Given the description of an element on the screen output the (x, y) to click on. 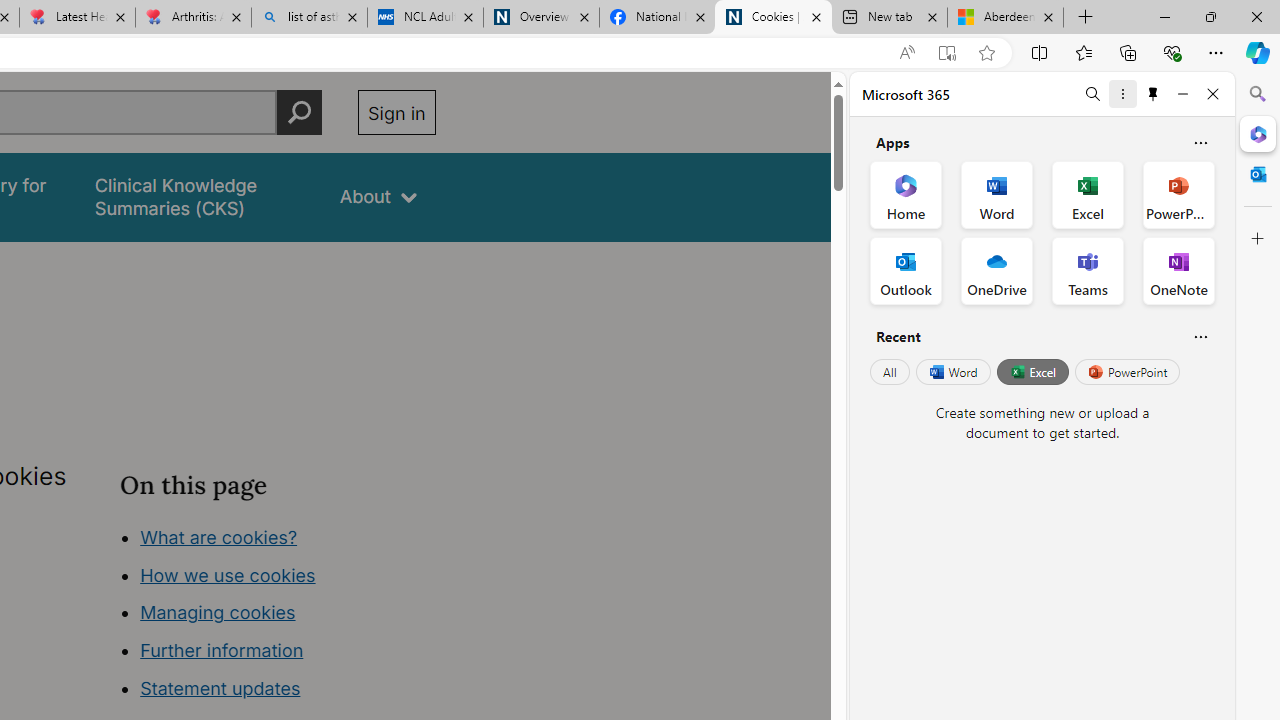
Excel Office App (1087, 194)
Teams Office App (1087, 270)
Statement updates (219, 688)
Cookies | About | NICE (772, 17)
Aberdeen, Hong Kong SAR hourly forecast | Microsoft Weather (1005, 17)
PowerPoint Office App (1178, 194)
